Given the description of an element on the screen output the (x, y) to click on. 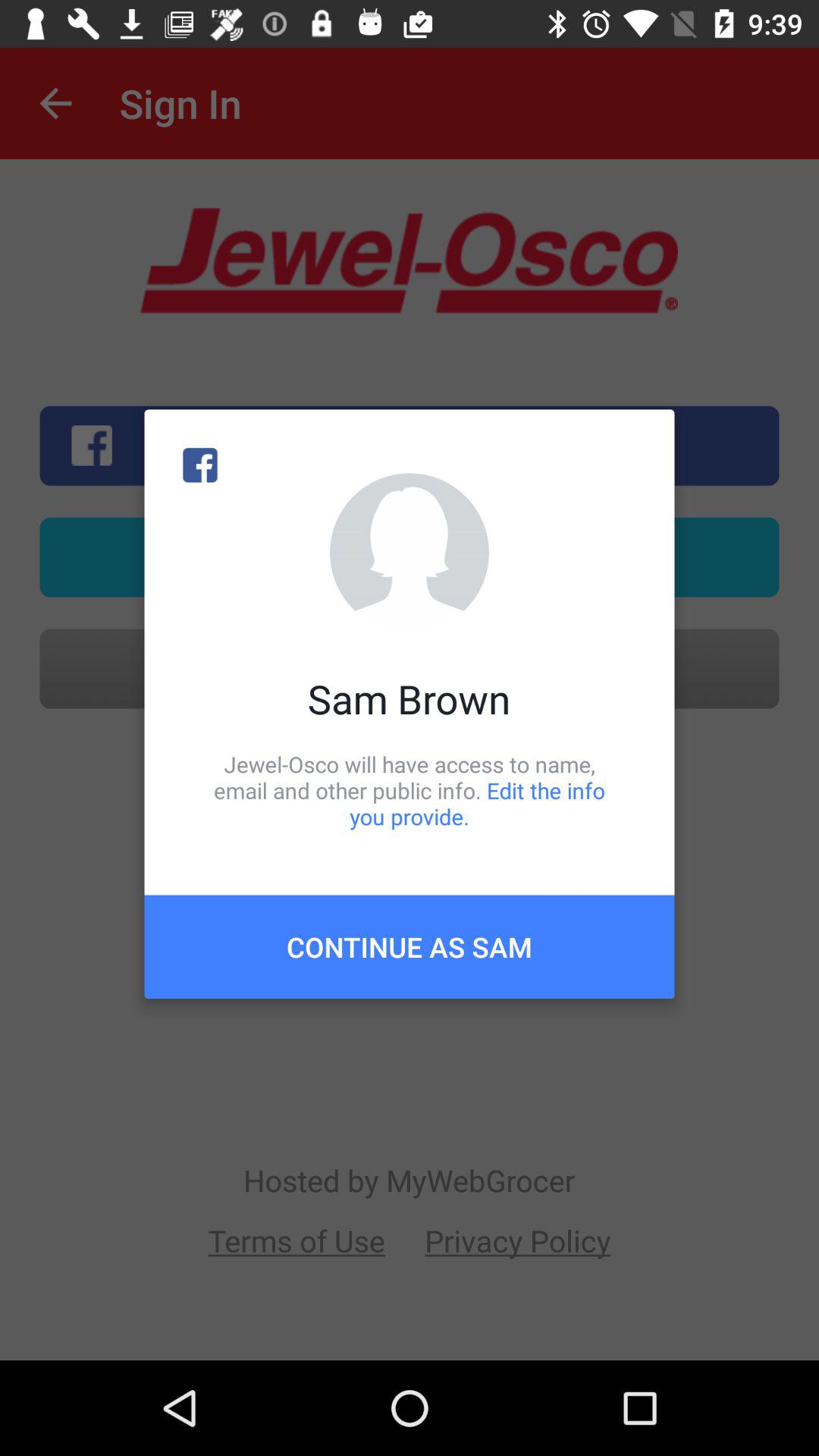
select item below the sam brown icon (409, 790)
